Given the description of an element on the screen output the (x, y) to click on. 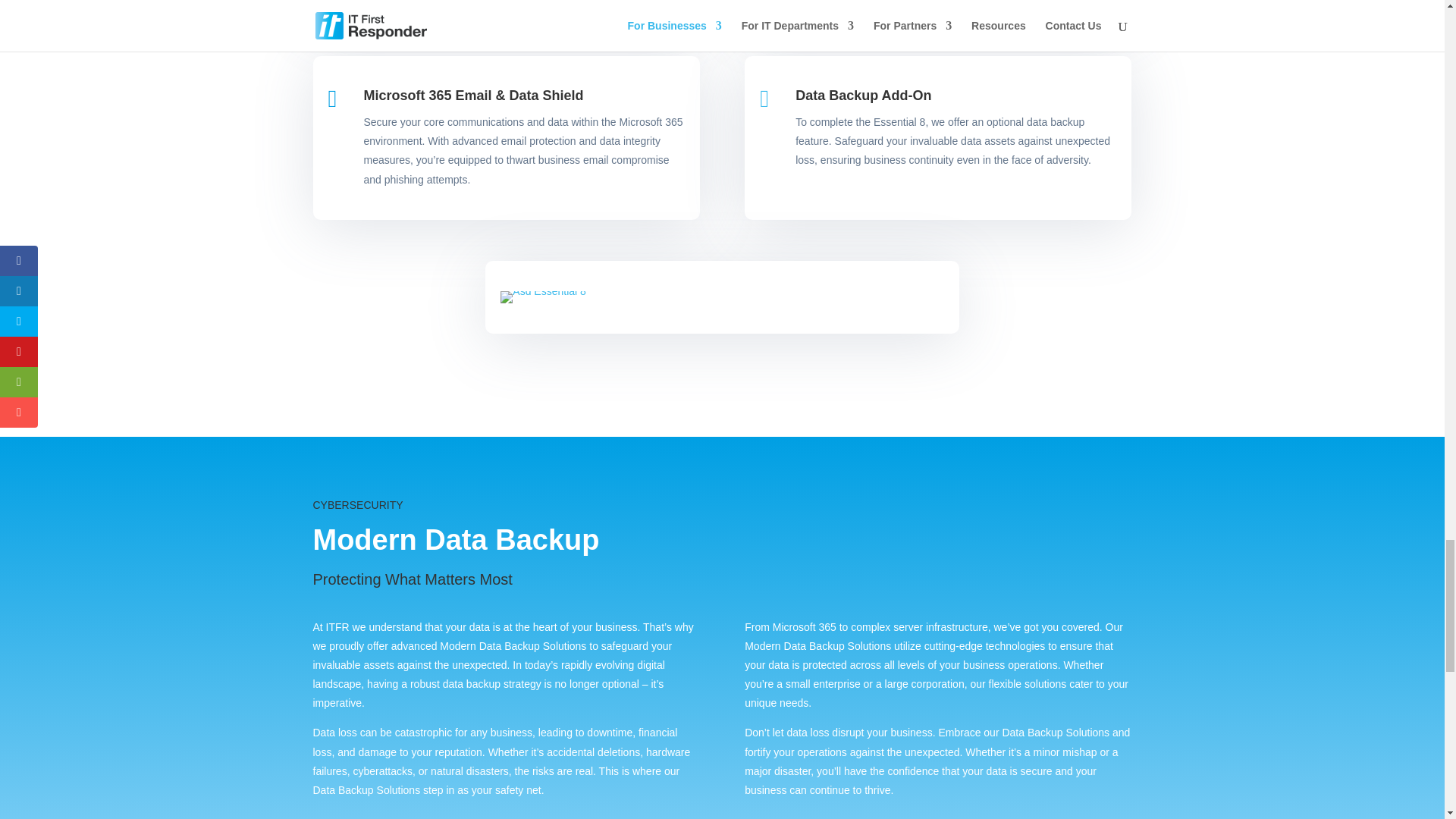
Acsc Essential 8 (543, 297)
ASD Essential 8 (543, 291)
